Given the description of an element on the screen output the (x, y) to click on. 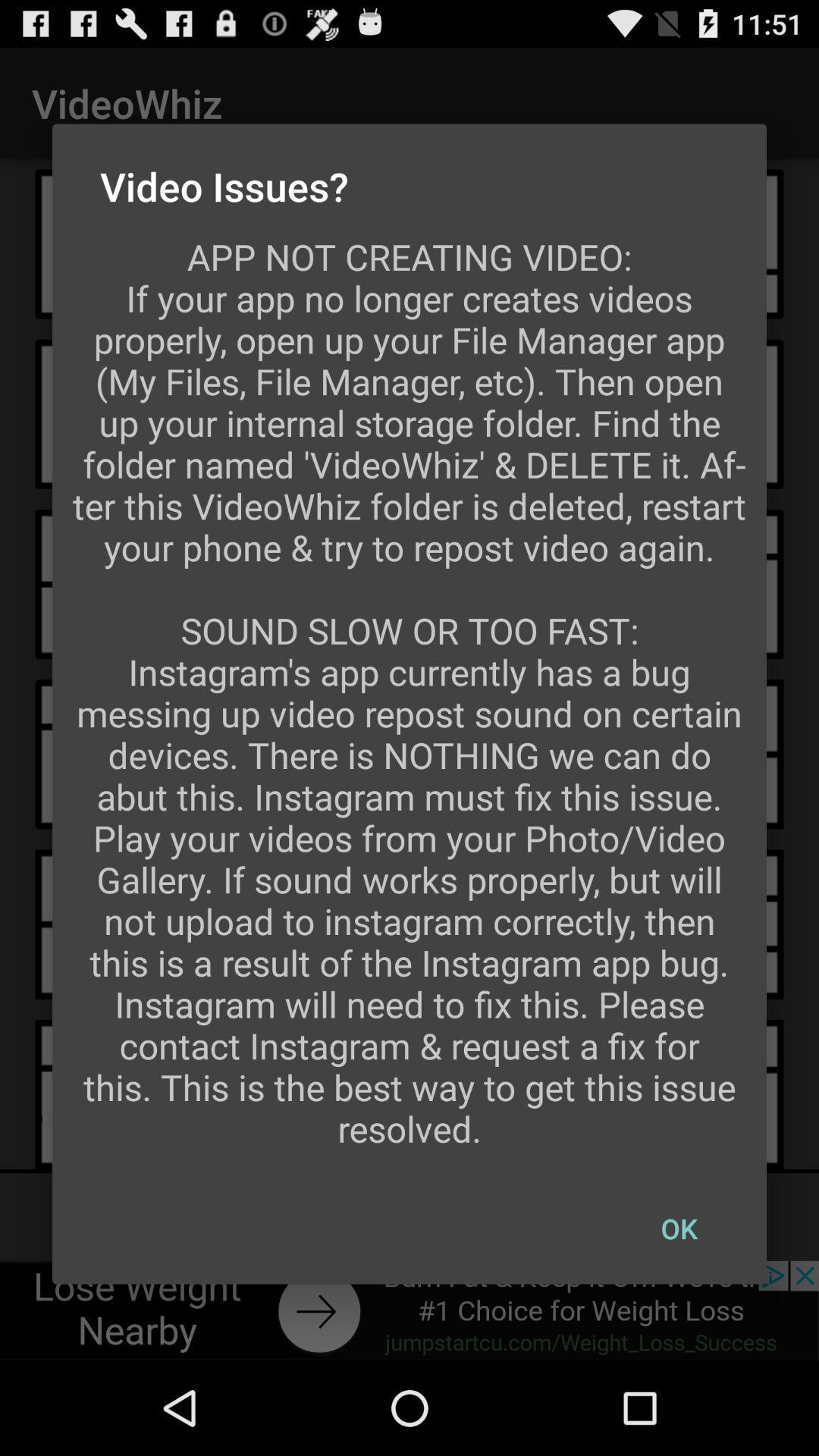
click ok at the bottom right corner (678, 1228)
